Given the description of an element on the screen output the (x, y) to click on. 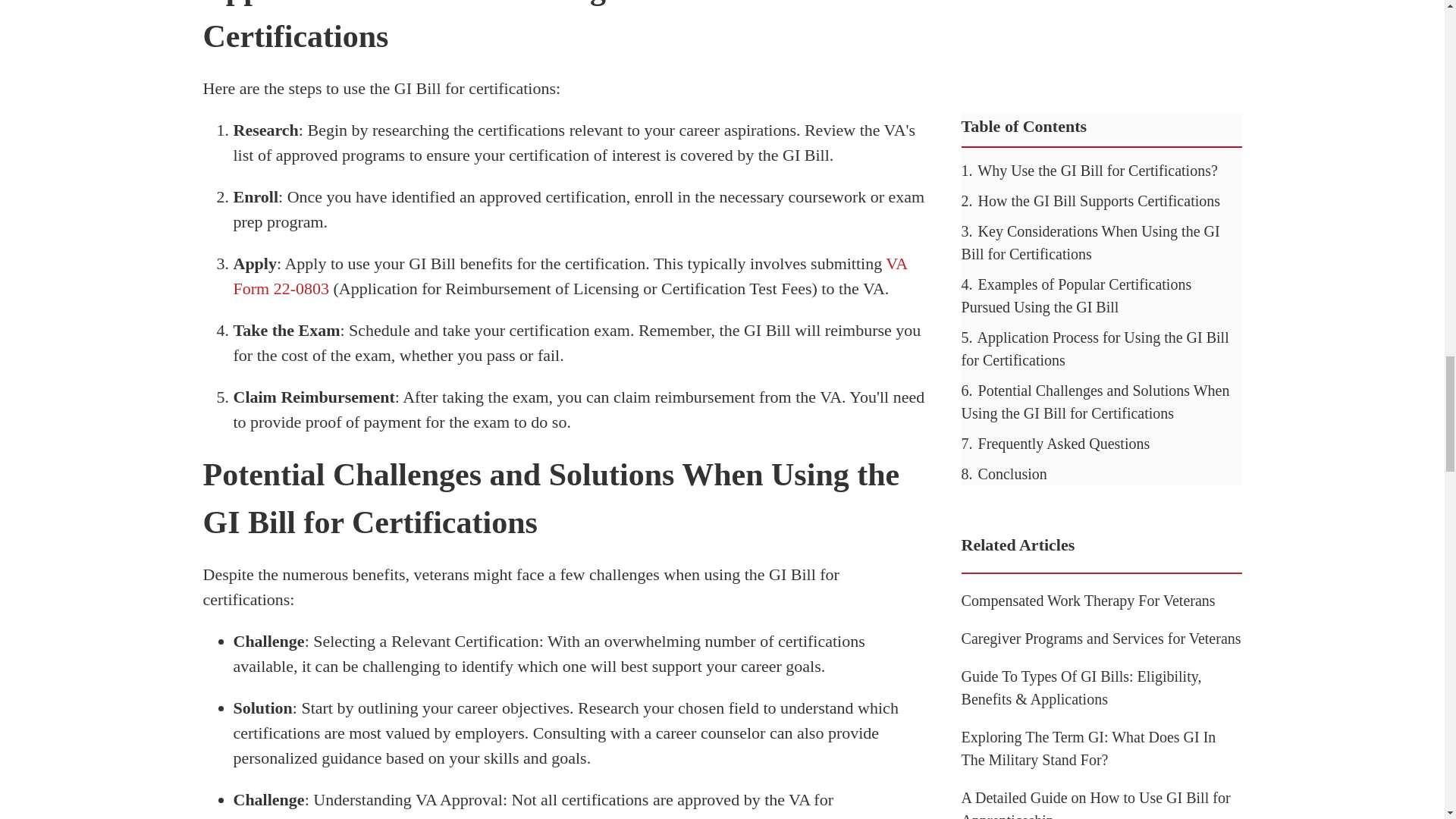
VA Form 22-0803 (569, 275)
